Given the description of an element on the screen output the (x, y) to click on. 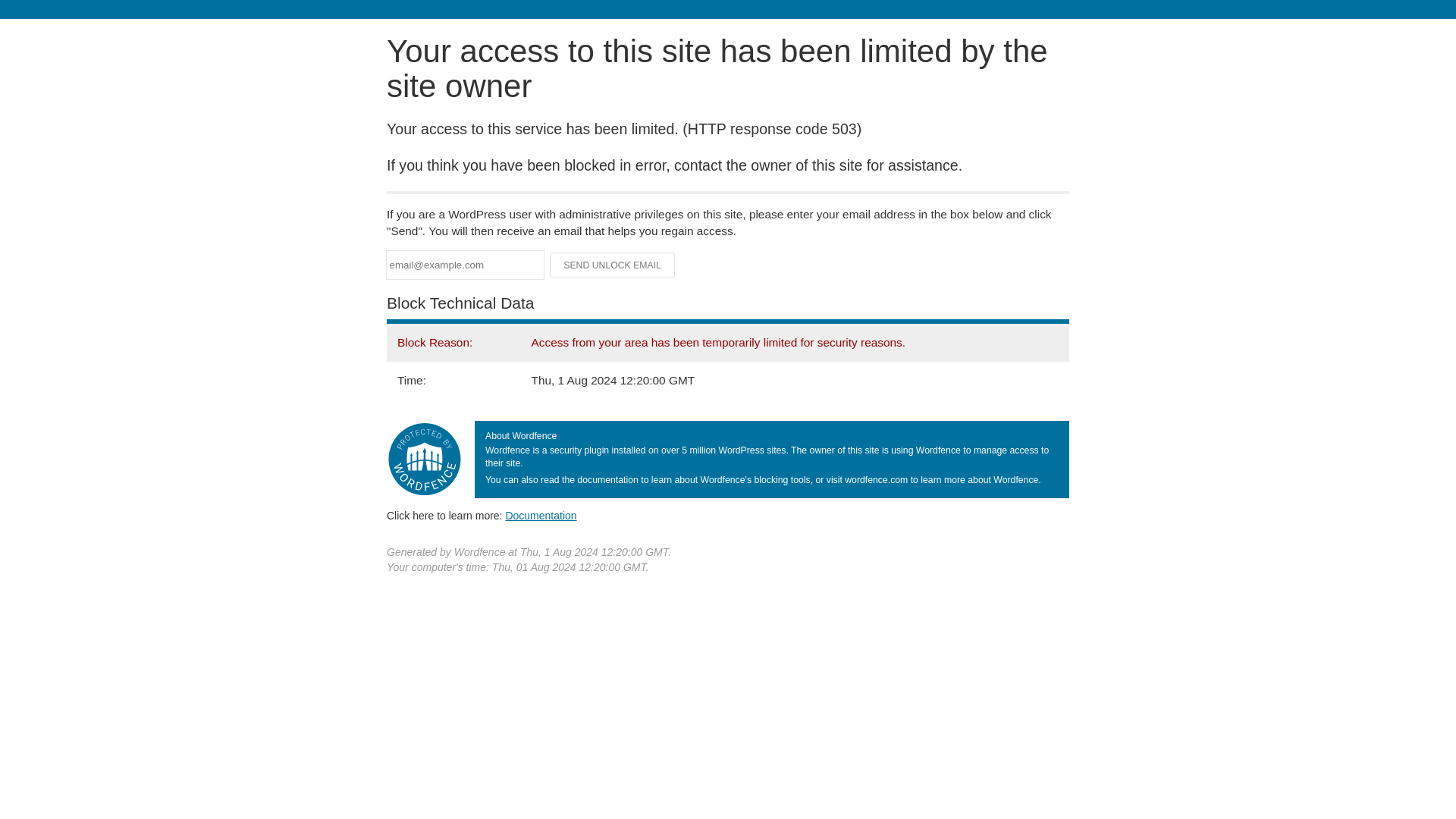
Documentation (540, 515)
Send Unlock Email (612, 265)
Send Unlock Email (612, 265)
